Given the description of an element on the screen output the (x, y) to click on. 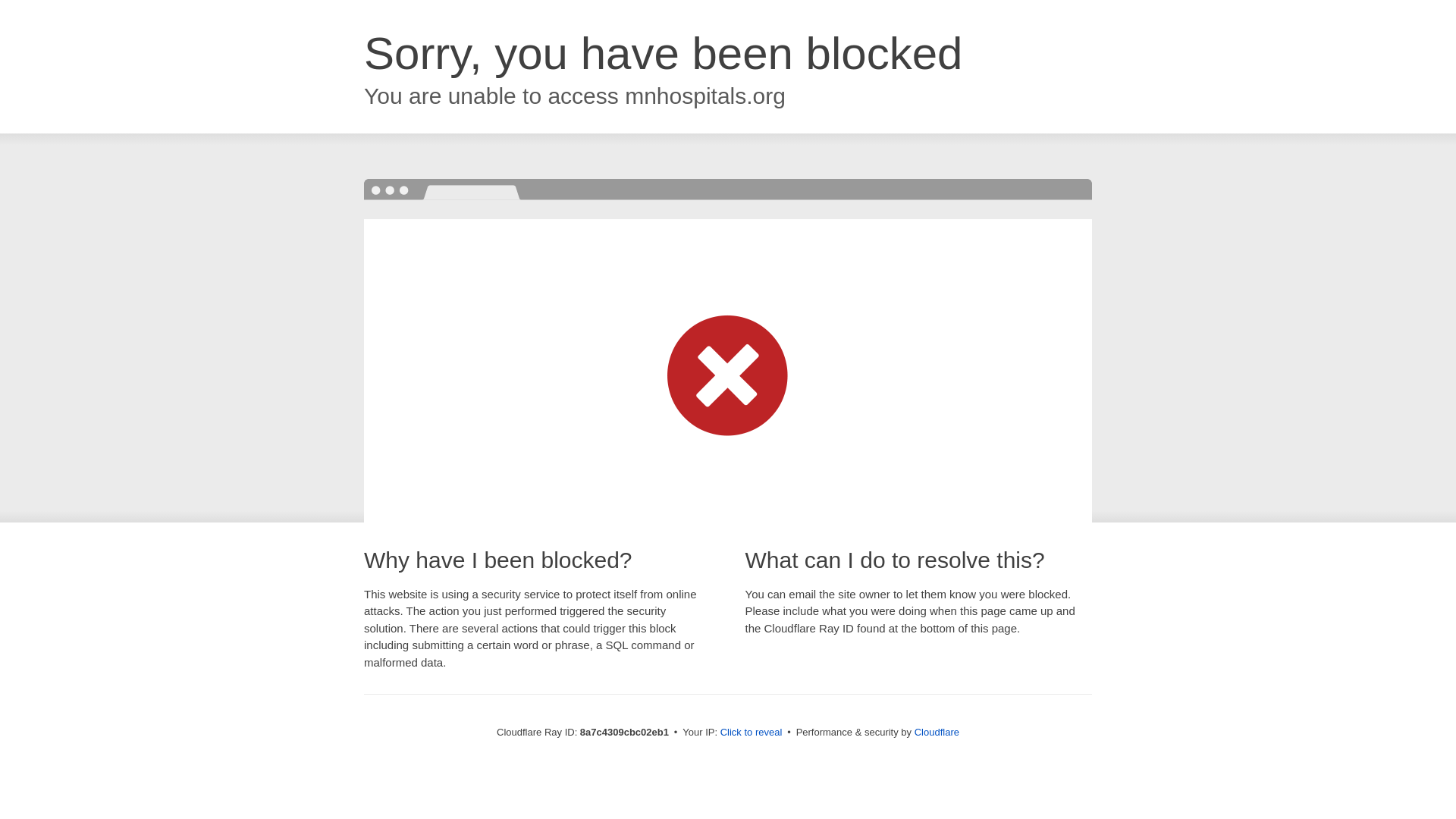
Cloudflare (936, 731)
Click to reveal (751, 732)
